Given the description of an element on the screen output the (x, y) to click on. 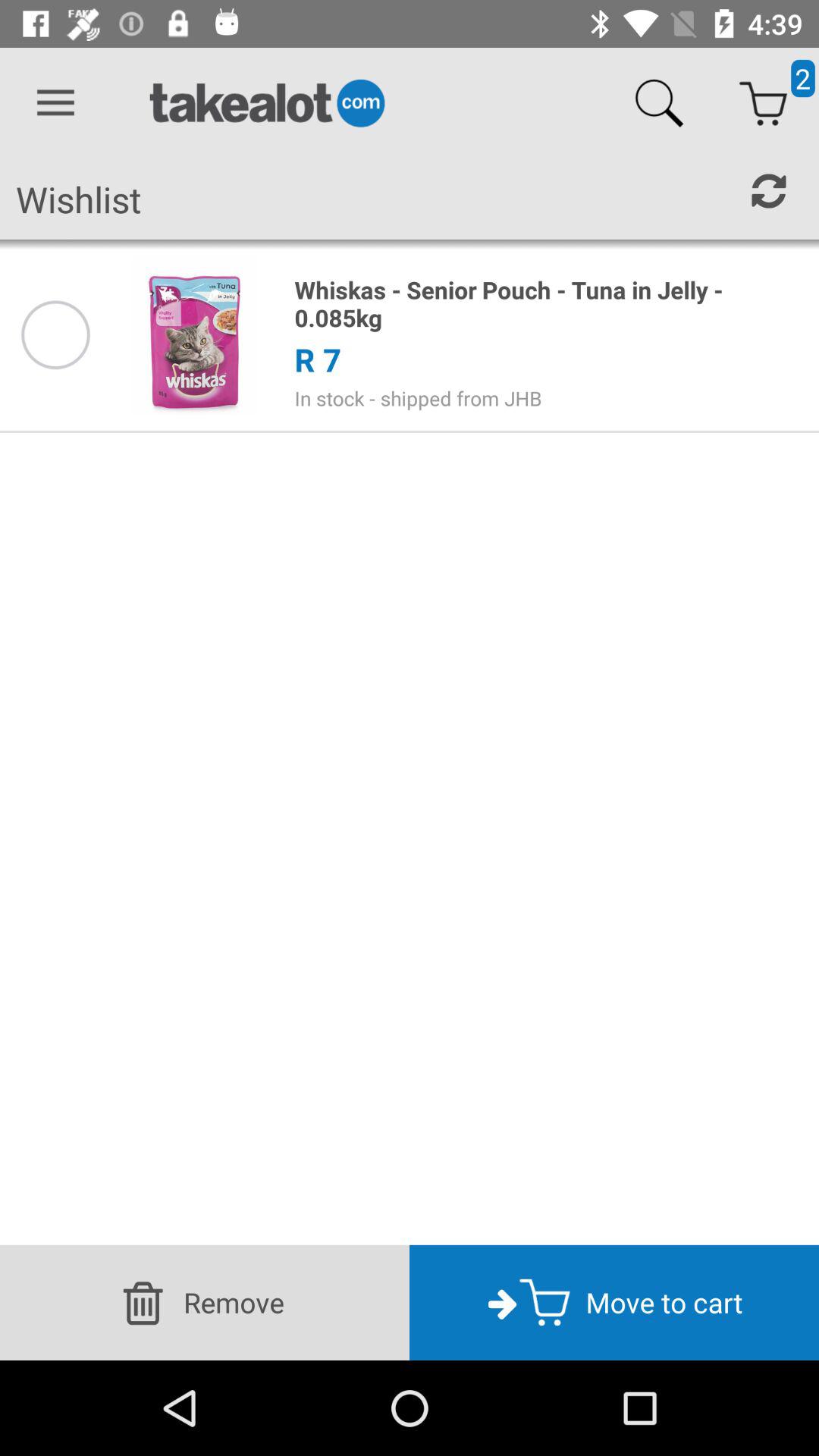
select item (55, 334)
